Given the description of an element on the screen output the (x, y) to click on. 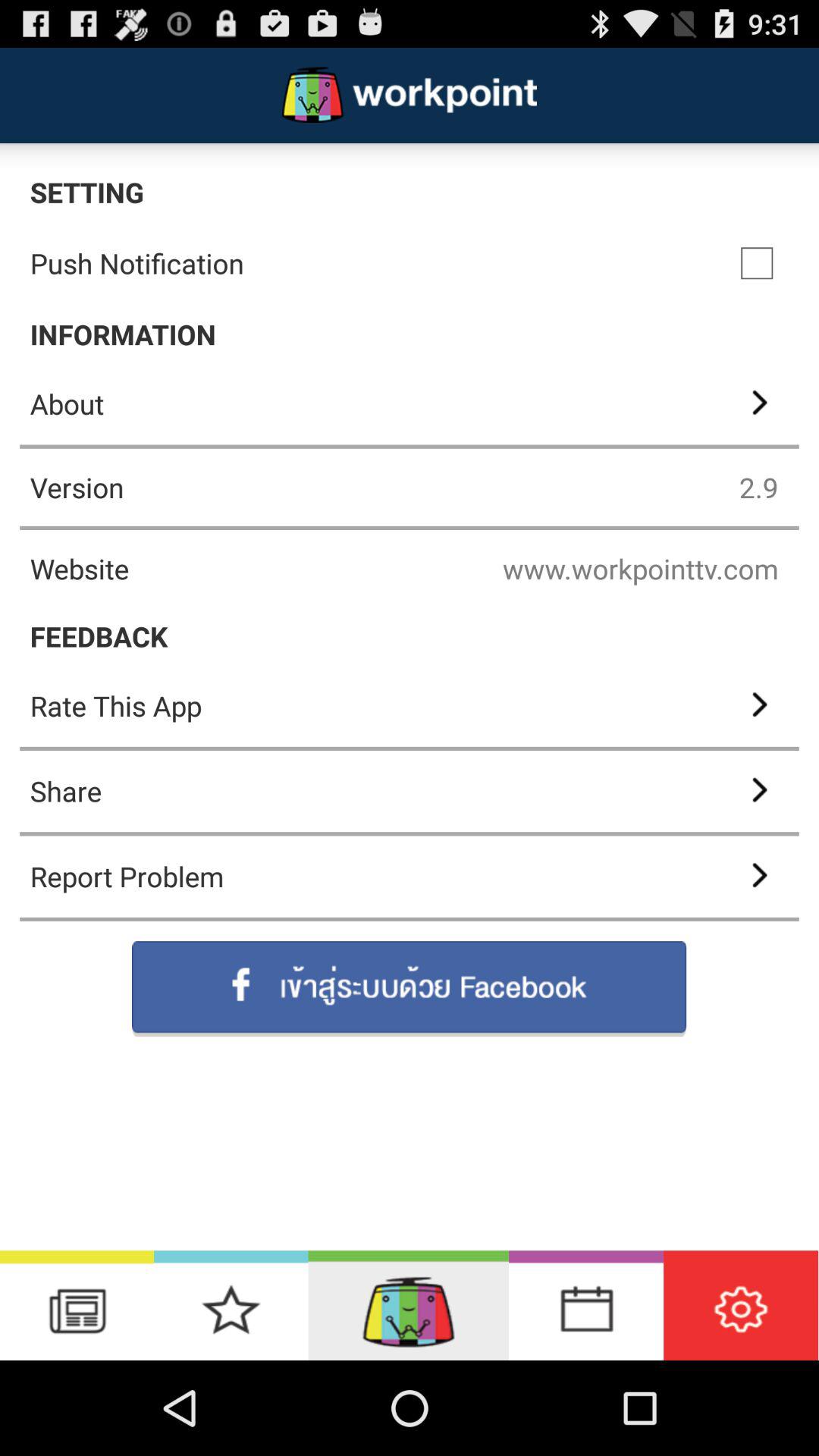
go to select option (756, 263)
